Given the description of an element on the screen output the (x, y) to click on. 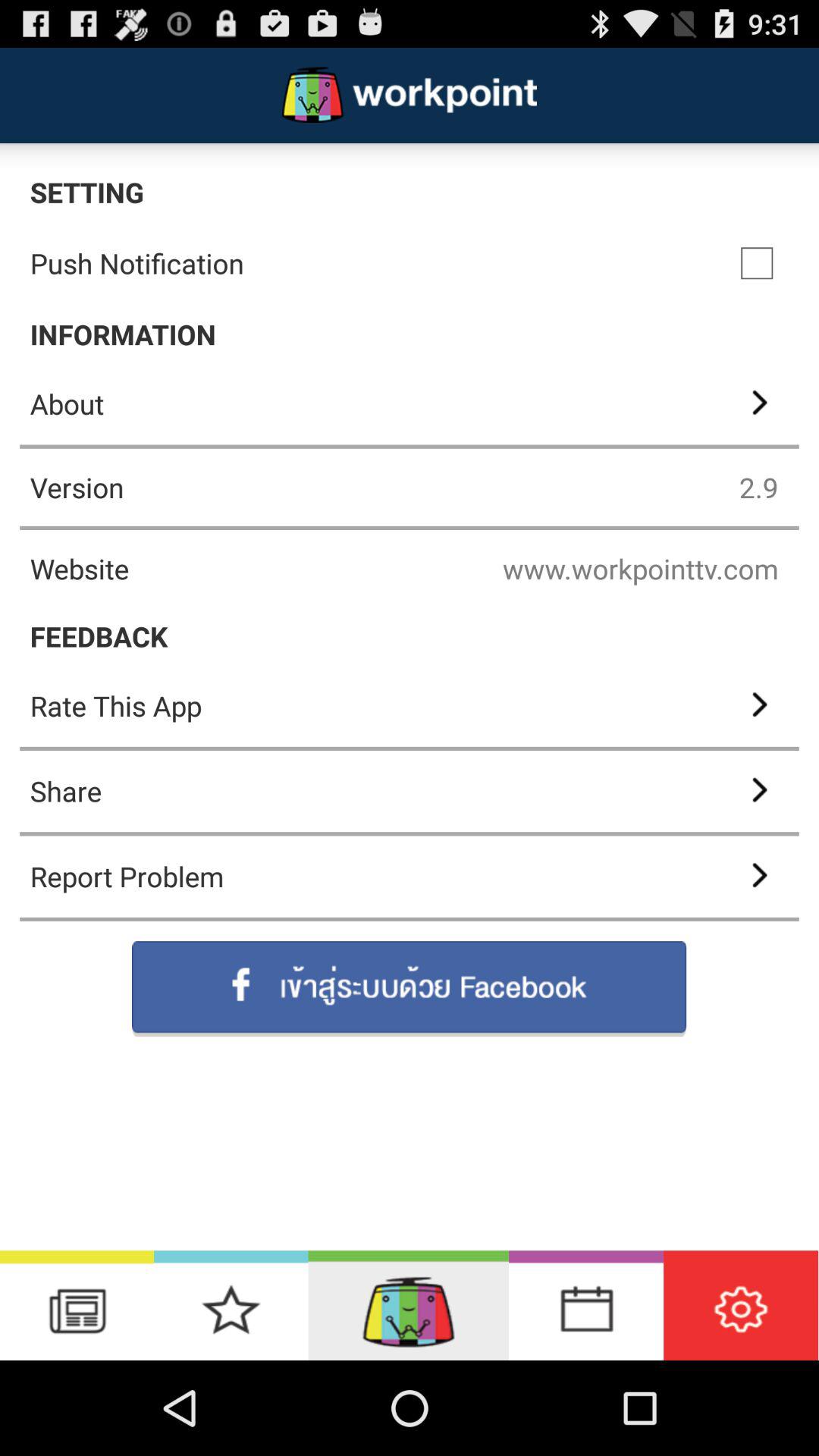
go to select option (756, 263)
